Given the description of an element on the screen output the (x, y) to click on. 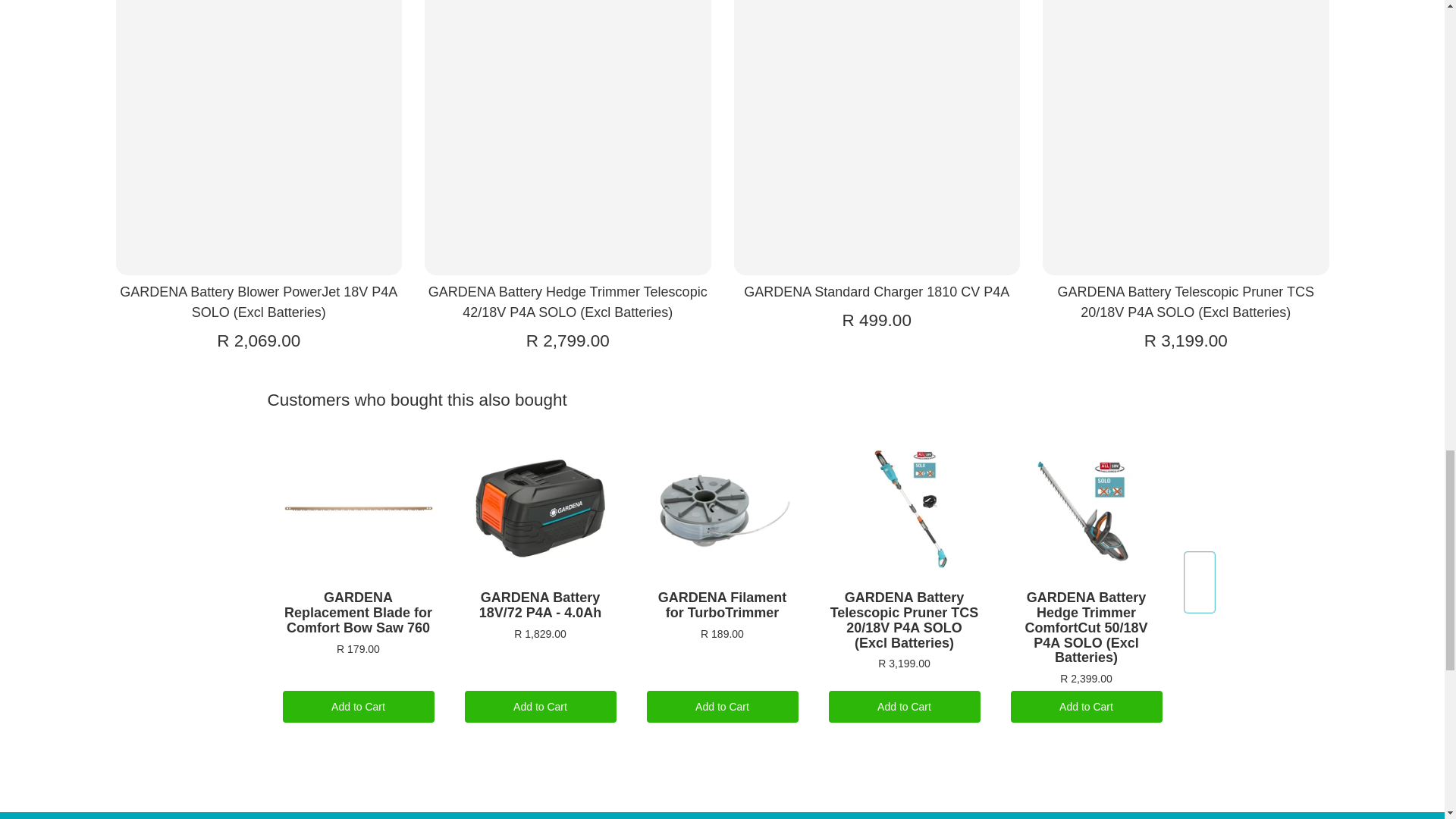
GARDENA Replacement Blade for Comfort Bow Saw 760 (358, 508)
GARDENA Filament for TurboTrimmer (722, 508)
